Given the description of an element on the screen output the (x, y) to click on. 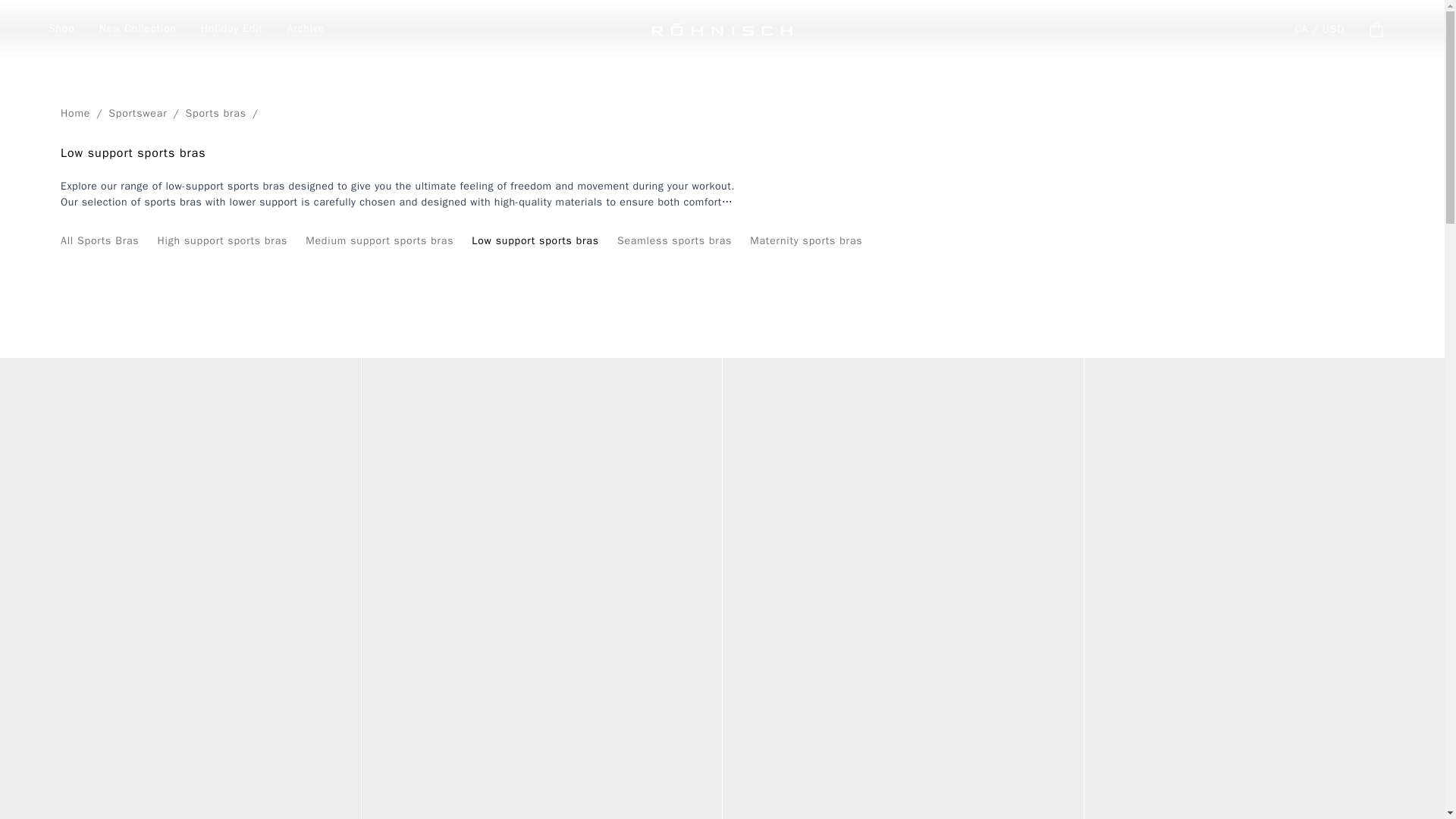
New Collection (137, 29)
link to Shop (61, 29)
link to New Collection (137, 29)
Archive (305, 29)
link to Holiday Edit (231, 29)
Holiday Edit (231, 29)
Shop (61, 29)
link to Archive (305, 29)
